Given the description of an element on the screen output the (x, y) to click on. 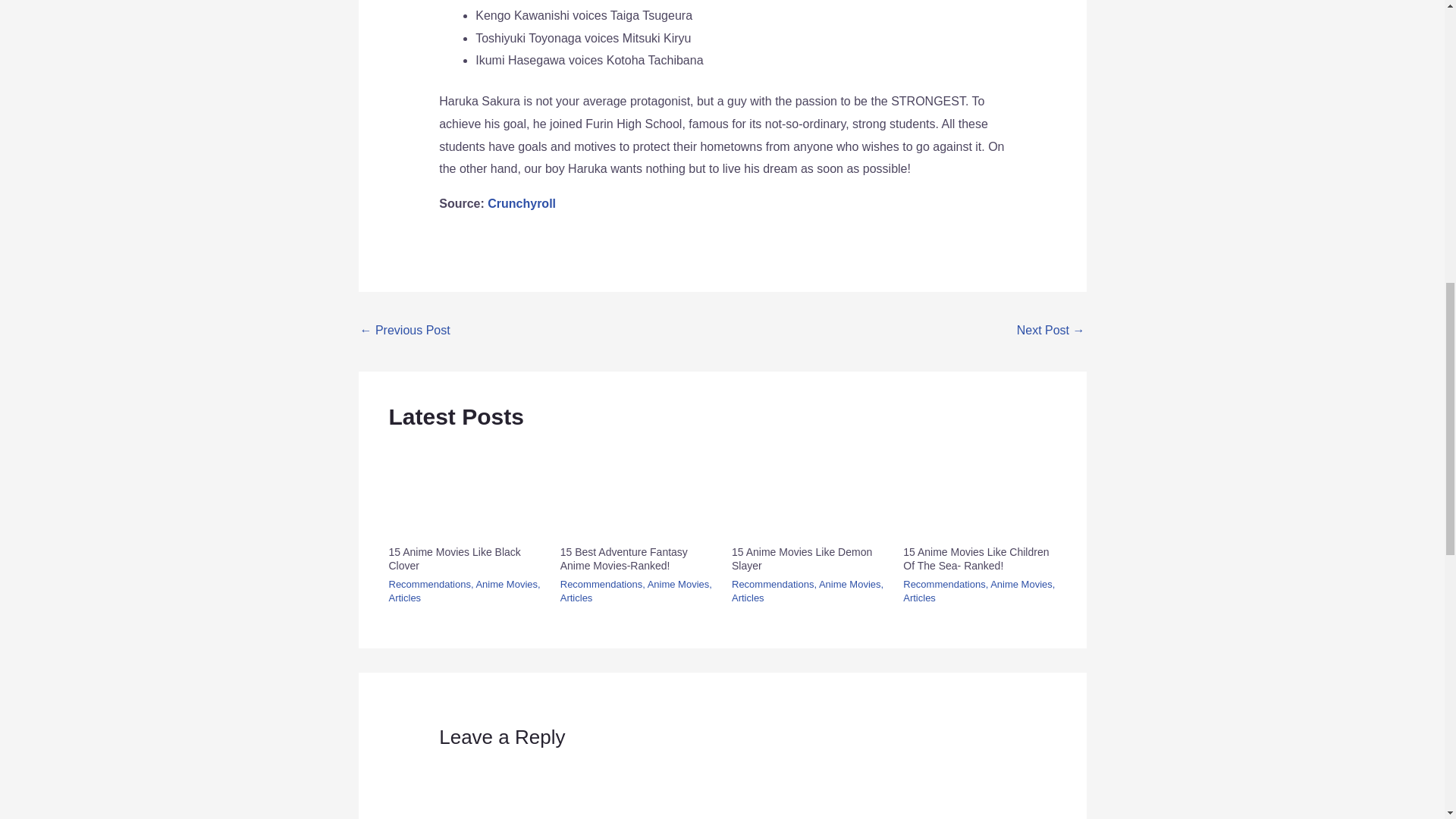
15 Anime Movies Like Children Of The Sea- Ranked! 5 (978, 489)
Comment Form (722, 786)
Crunchyroll  (521, 203)
15 Anime Movies Like Black Clover 2 (464, 489)
15 Anime Movies Like Demon Slayer 4 (807, 489)
Yusuke Murata Unveils More Trailer of Zaiyuki Anime Project (1050, 331)
15 Best Adventure Fantasy Anime Movies-Ranked! 3 (636, 489)
Karasu wa Aruji wo Erabanai Anime Premieres on April 6 (404, 331)
